Given the description of an element on the screen output the (x, y) to click on. 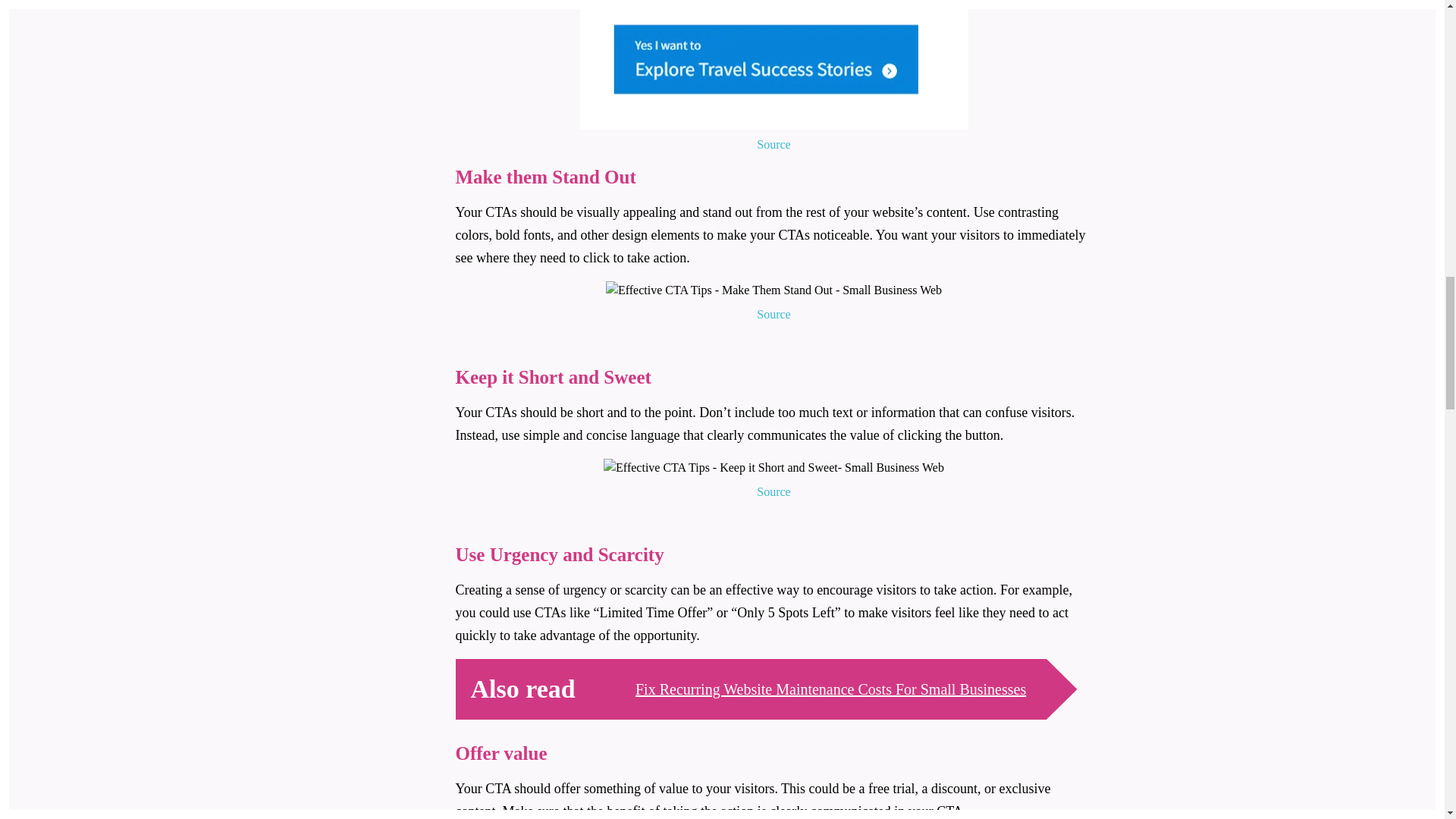
Source (773, 313)
Fix Recurring Website Maintenance Costs For Small Businesses (830, 688)
Source (773, 491)
Source (773, 144)
